Given the description of an element on the screen output the (x, y) to click on. 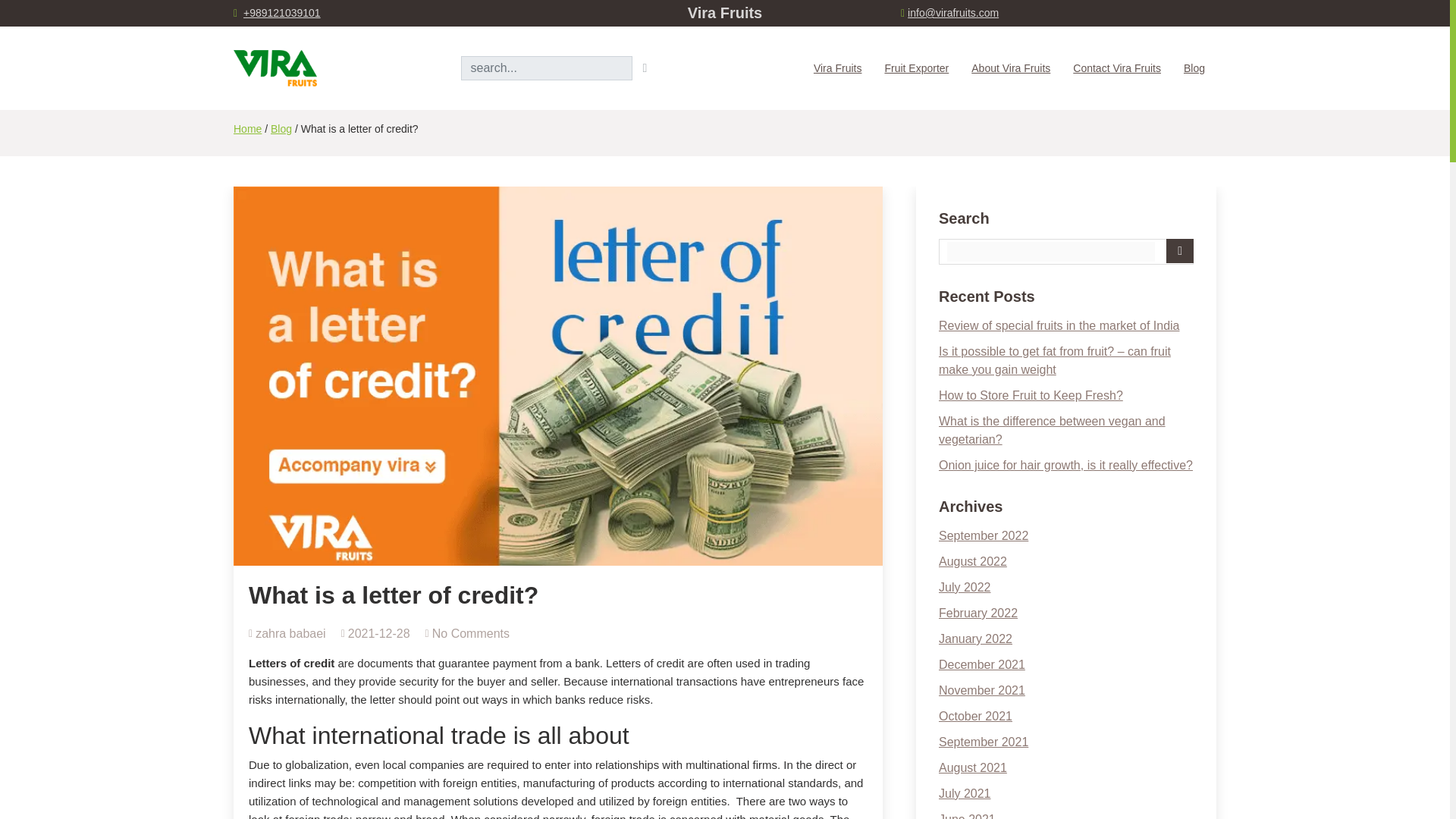
January 2022 (975, 638)
July 2021 (965, 793)
June 2021 (967, 816)
Home (247, 128)
August 2022 (973, 561)
September 2021 (983, 741)
July 2022 (965, 586)
August 2021 (973, 767)
September 2022 (983, 535)
October 2021 (975, 716)
